Given the description of an element on the screen output the (x, y) to click on. 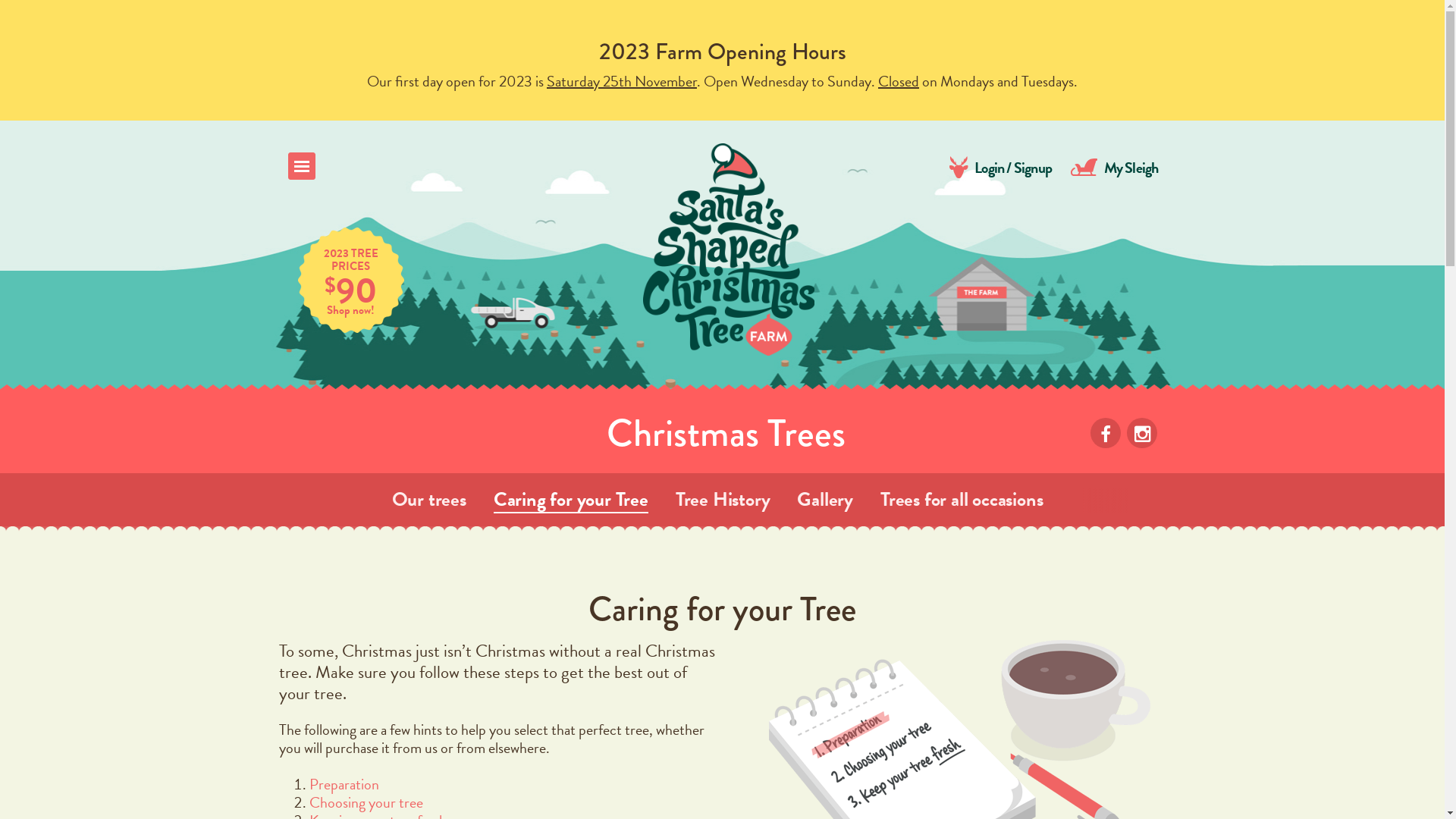
Trees for all occasions Element type: text (961, 500)
Tree History Element type: text (722, 500)
My Sleigh Element type: text (1113, 167)
Caring for your Tree Element type: text (570, 500)
Preparation Element type: text (344, 782)
Choosing your tree Element type: text (366, 801)
Our trees Element type: text (428, 500)
Gallery Element type: text (825, 500)
Login / Signup Element type: text (1000, 168)
